Given the description of an element on the screen output the (x, y) to click on. 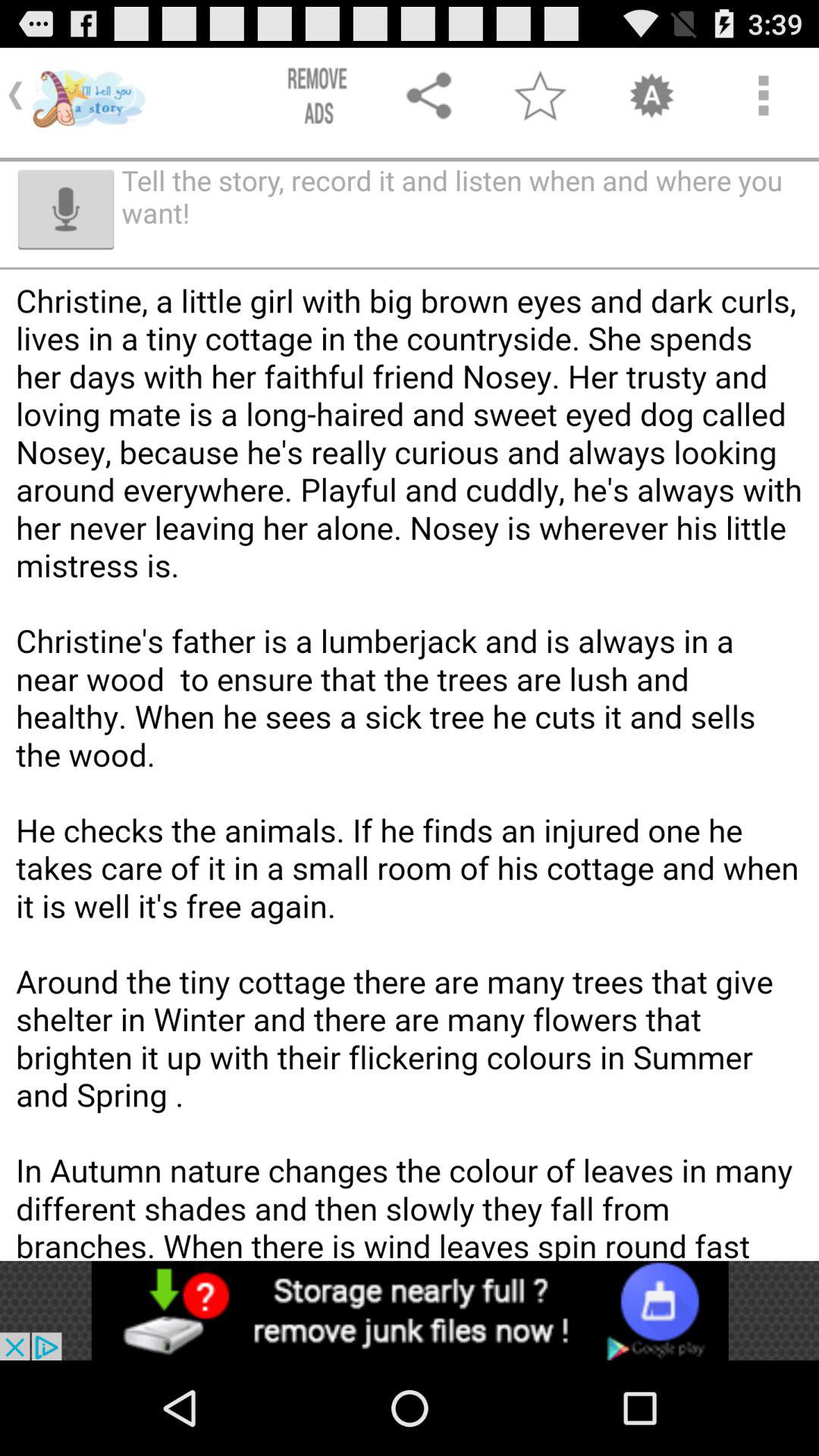
view the full page (409, 814)
